Given the description of an element on the screen output the (x, y) to click on. 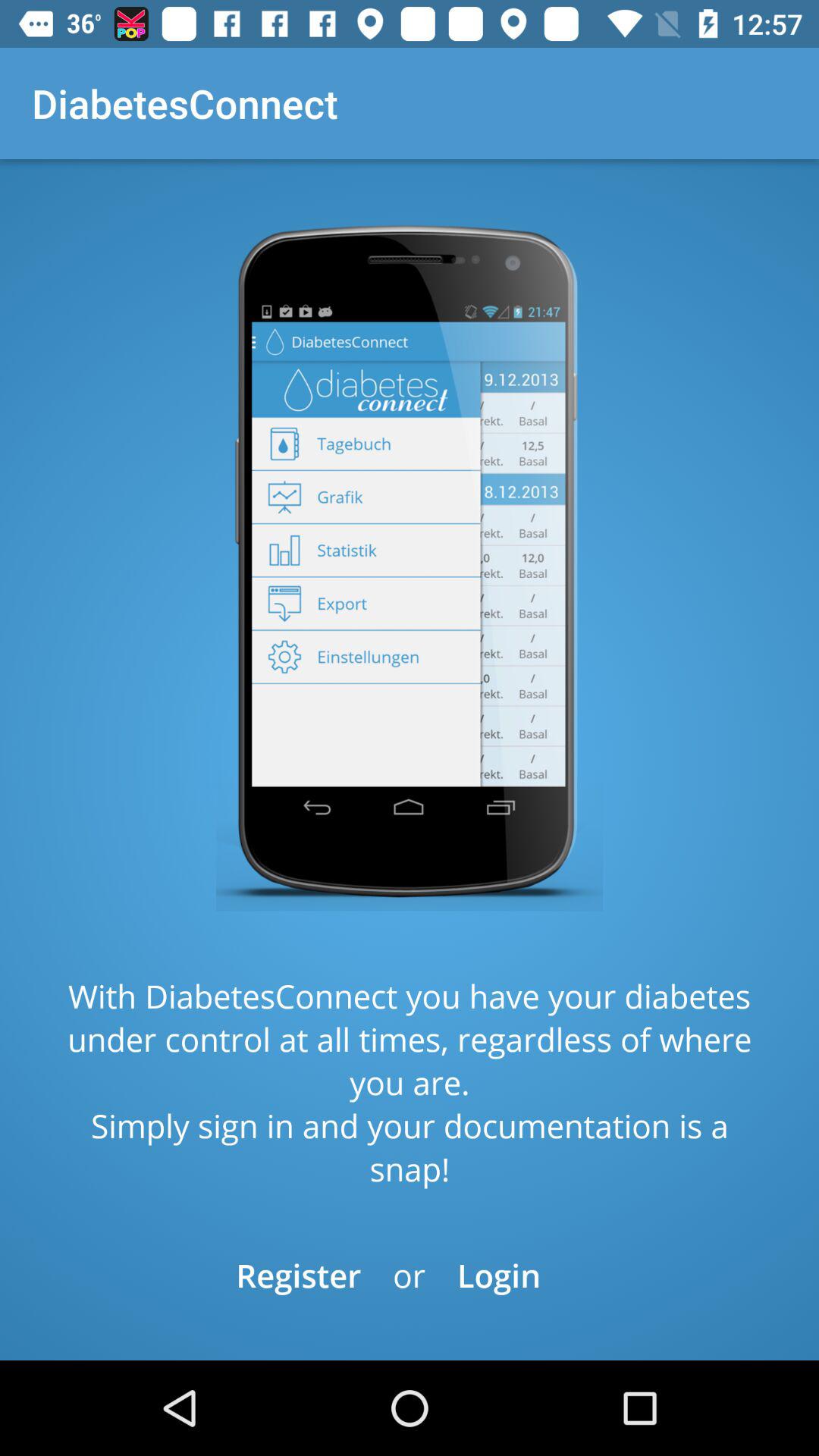
open the login (498, 1275)
